Given the description of an element on the screen output the (x, y) to click on. 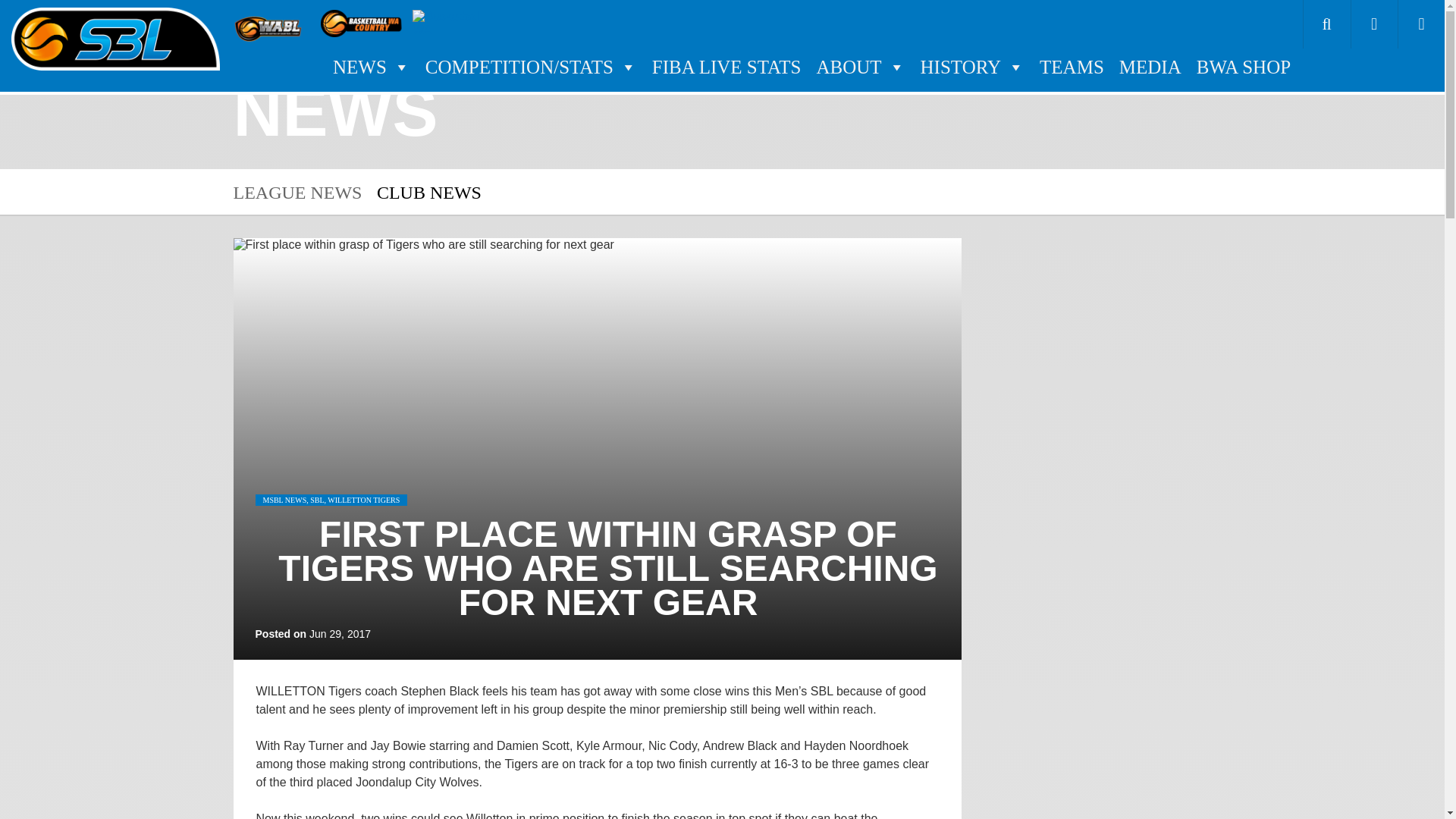
NEWS (371, 67)
MEDIA (1149, 67)
WABL (269, 22)
Basketball WA Country (362, 22)
FIBA LIVE STATS (727, 67)
ABOUT (859, 67)
SBL (115, 39)
BWA SHOP (1243, 67)
LEAGUE NEWS (297, 192)
CLUB NEWS (429, 192)
